Given the description of an element on the screen output the (x, y) to click on. 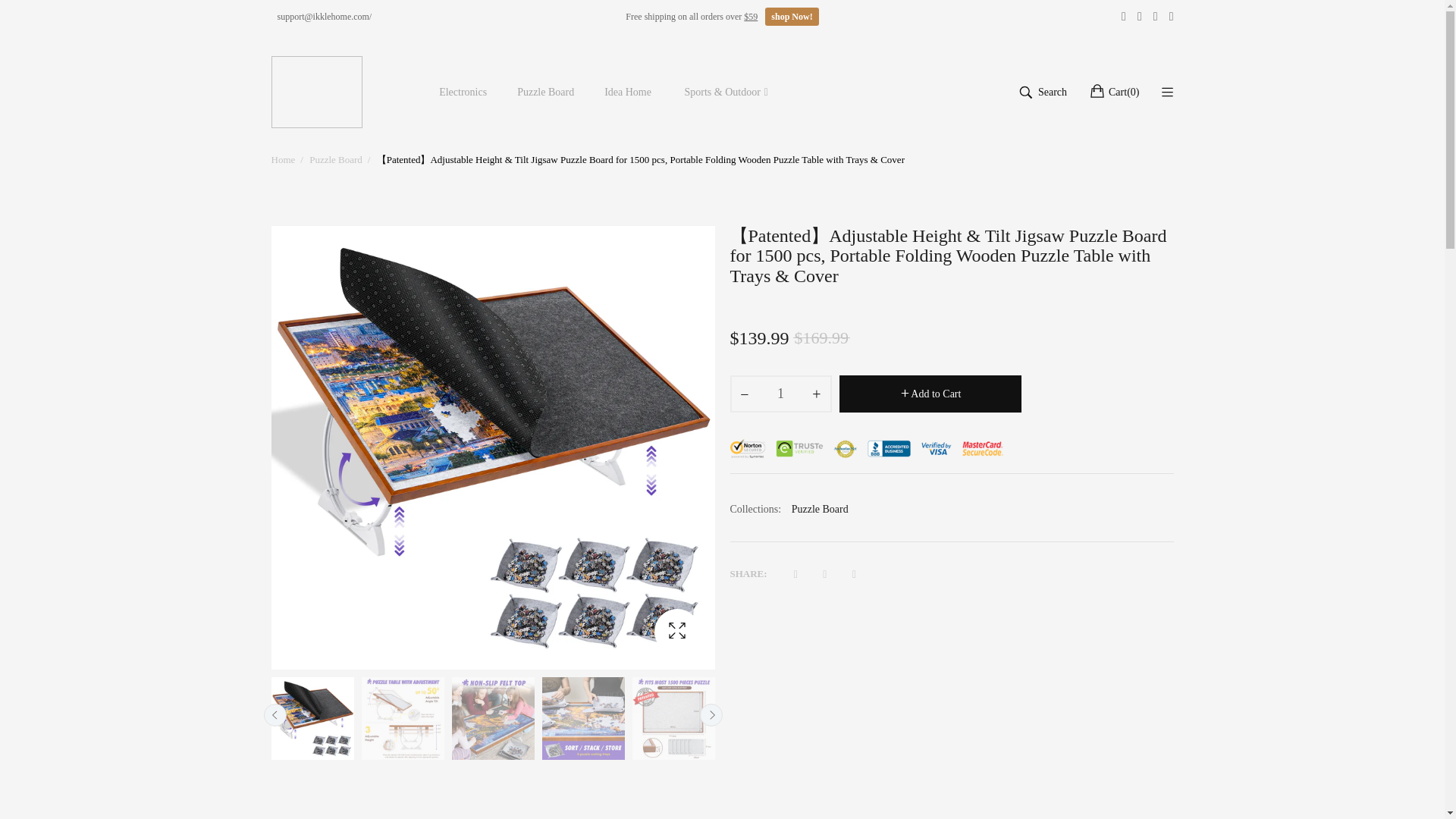
Puzzle Board (820, 509)
Idea Home (627, 92)
1 (779, 393)
Electronics (462, 92)
Search (1042, 92)
Back to the frontpage (282, 159)
Search (1042, 92)
Puzzle Board (545, 92)
Puzzle Board (335, 159)
shop Now! (791, 16)
ikkle Home (316, 91)
